Given the description of an element on the screen output the (x, y) to click on. 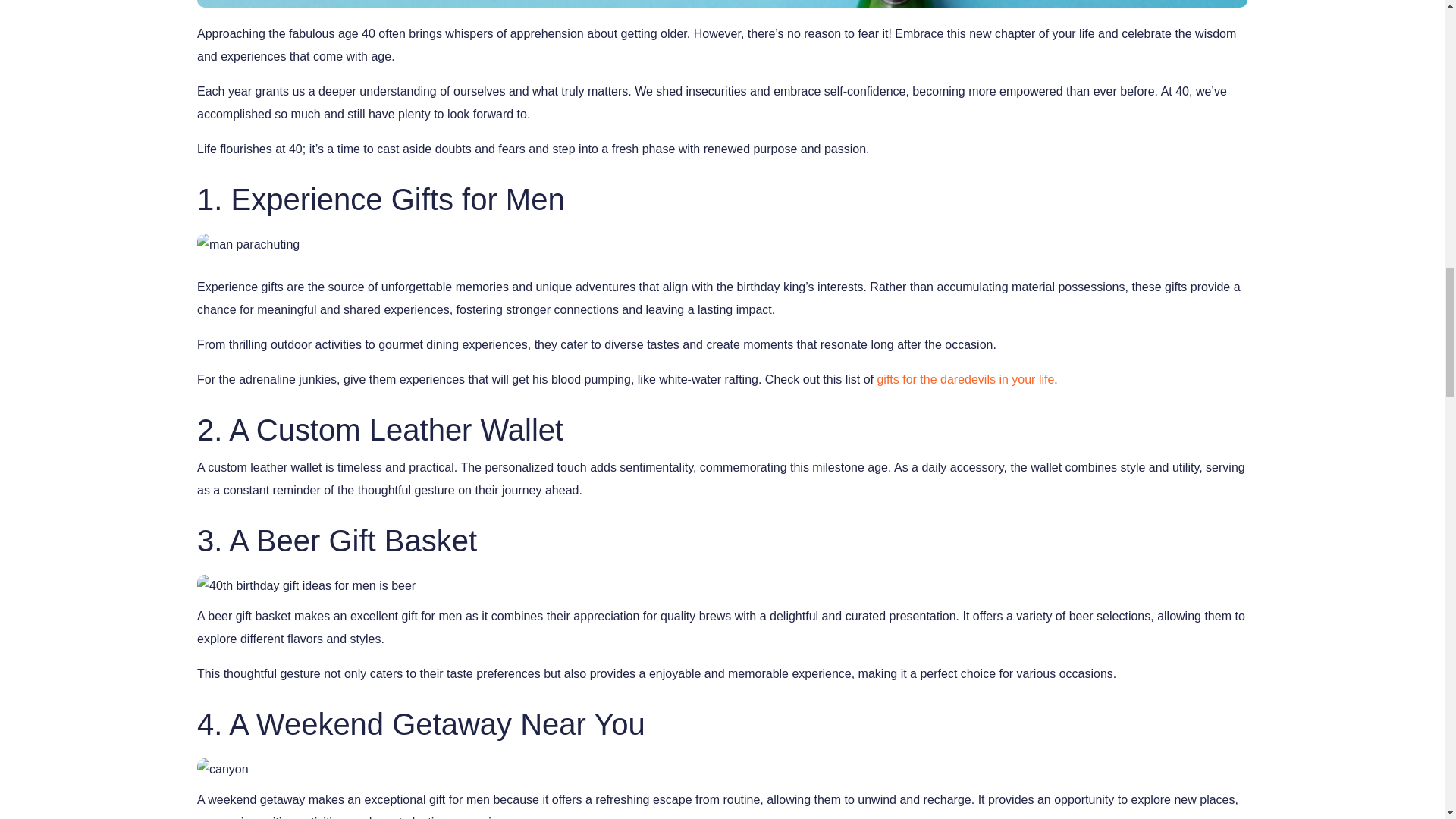
40Th Birthday Gift Ideas For Men To Rock His World 4 (222, 769)
40Th Birthday Gift Ideas For Men To Rock His World 2 (247, 244)
40Th Birthday Gift Ideas For Men To Rock His World 3 (305, 585)
